Given the description of an element on the screen output the (x, y) to click on. 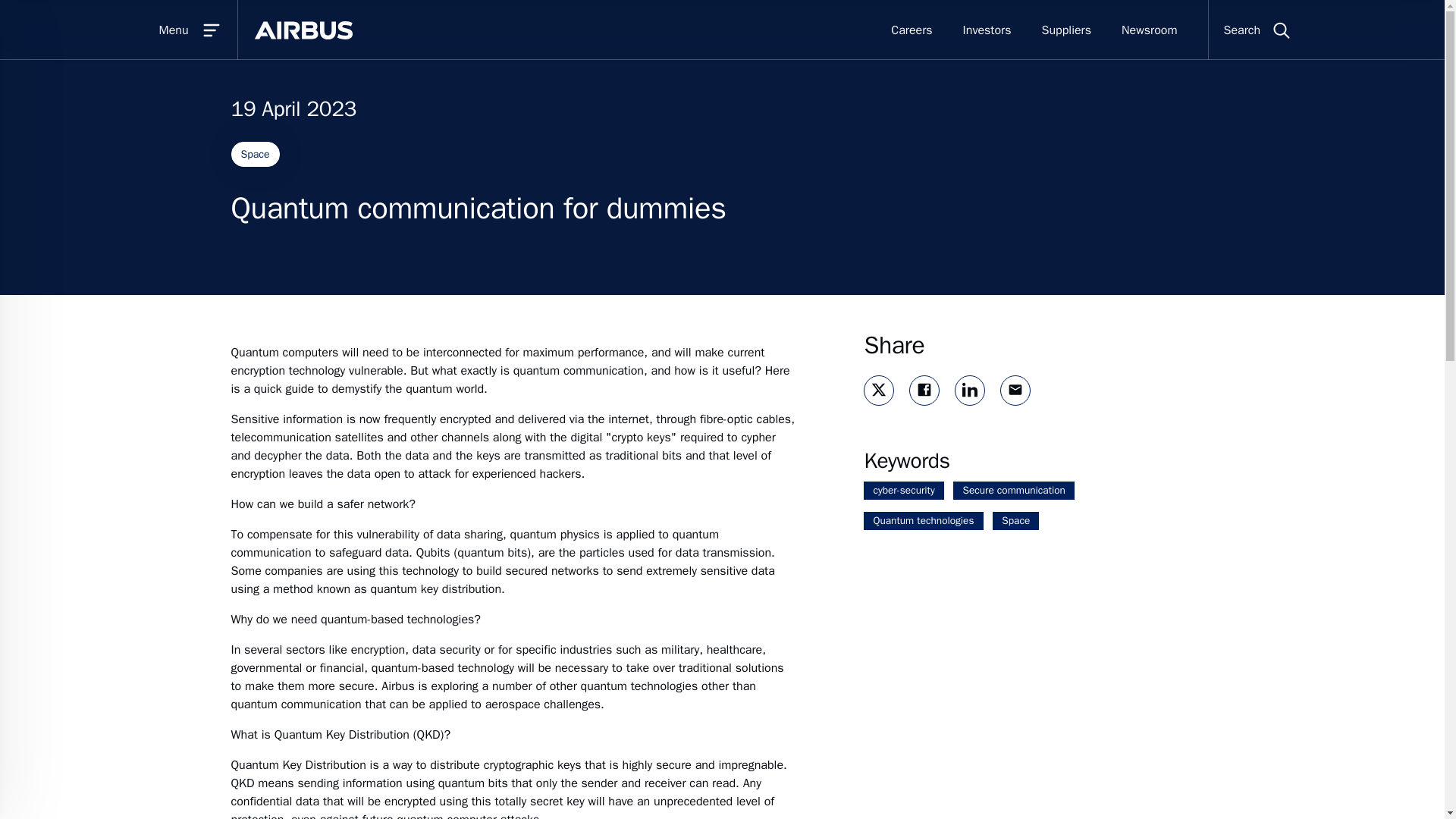
Airbus X (878, 389)
Airbus Facebook (924, 389)
Airbus Mail (1015, 389)
Open menu (159, 29)
Airbus Linkedin (969, 389)
Skip to main content (737, 12)
